Given the description of an element on the screen output the (x, y) to click on. 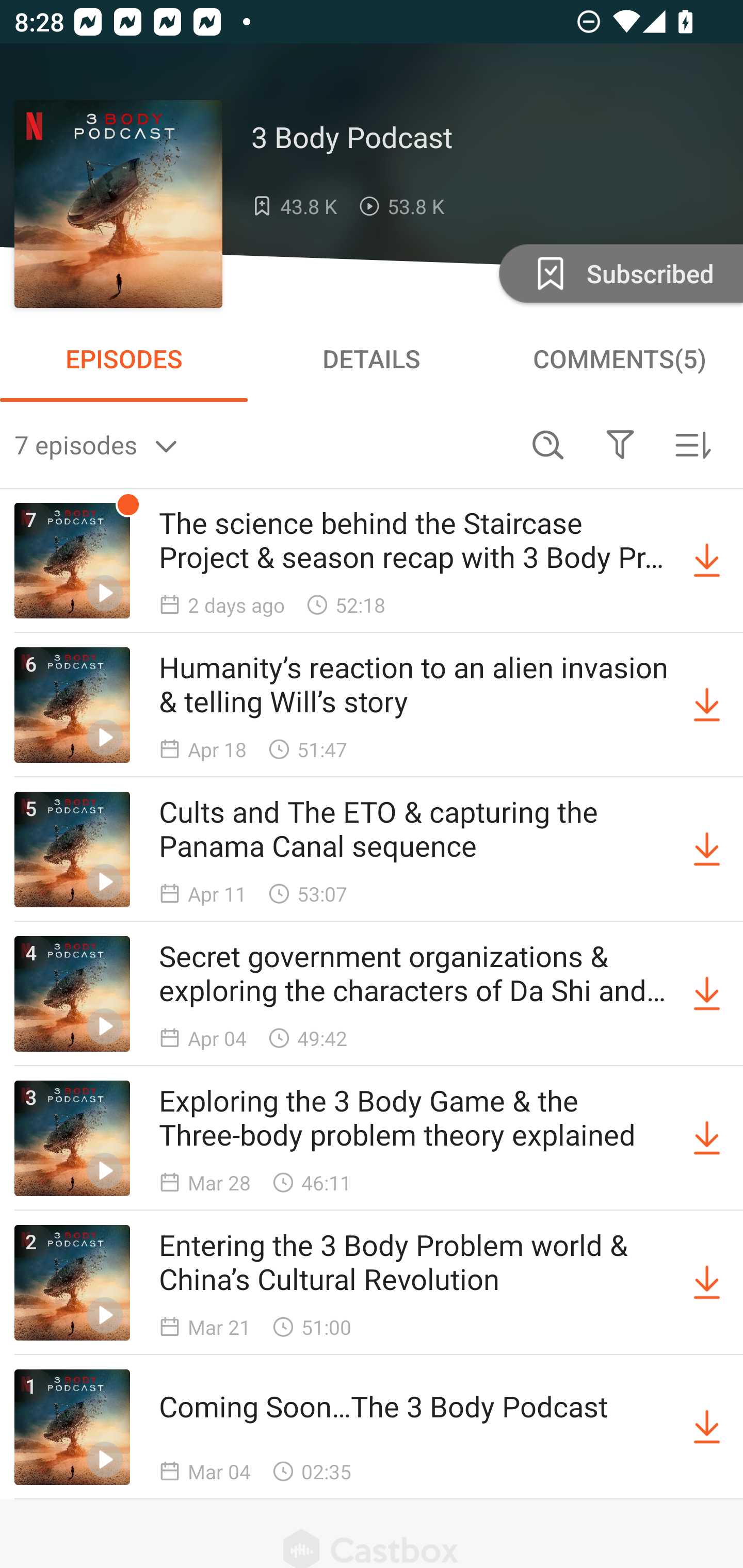
Unsubscribe Subscribed (619, 272)
EPISODES (123, 358)
DETAILS (371, 358)
COMMENTS(5) (619, 358)
7 episodes  (262, 445)
 Search (547, 445)
 (619, 445)
 Sorted by newest first (692, 445)
Download (706, 560)
Download (706, 705)
Download (706, 849)
Download (706, 994)
Download (706, 1138)
Download (706, 1282)
Download (706, 1426)
